Given the description of an element on the screen output the (x, y) to click on. 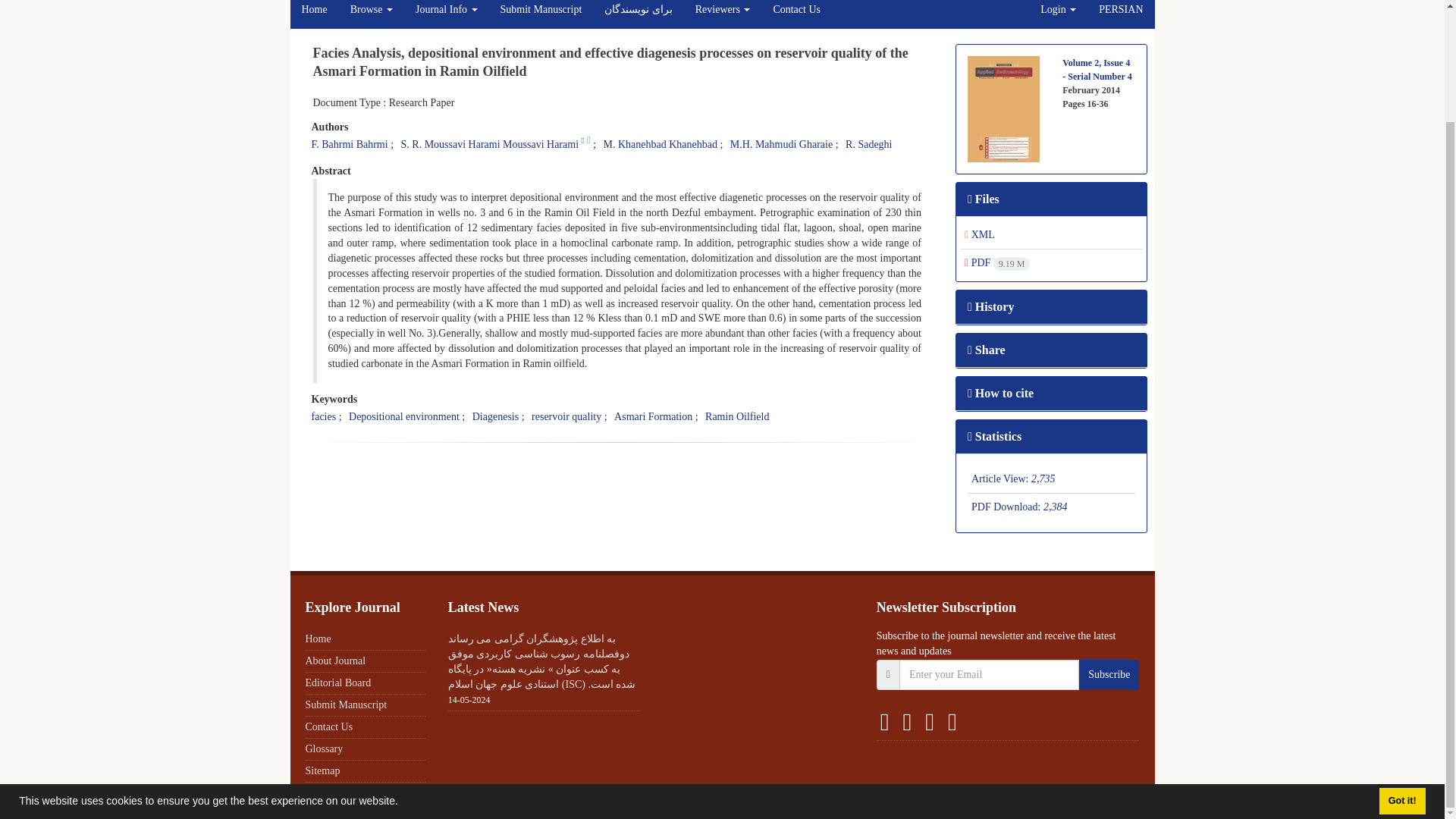
Reviewers (722, 14)
S. R. Moussavi Harami Moussavi Harami (489, 143)
PERSIAN (1120, 14)
Submit Manuscript (541, 14)
Home (313, 14)
M.H. Mahmudi Gharaie (781, 143)
R. Sadeghi (868, 143)
Browse (371, 14)
Journal Info (446, 14)
F. Bahrmi Bahrmi (349, 143)
Got it! (1401, 668)
Login (1058, 14)
M. Khanehbad Khanehbad (660, 143)
Contact Us (796, 14)
